Given the description of an element on the screen output the (x, y) to click on. 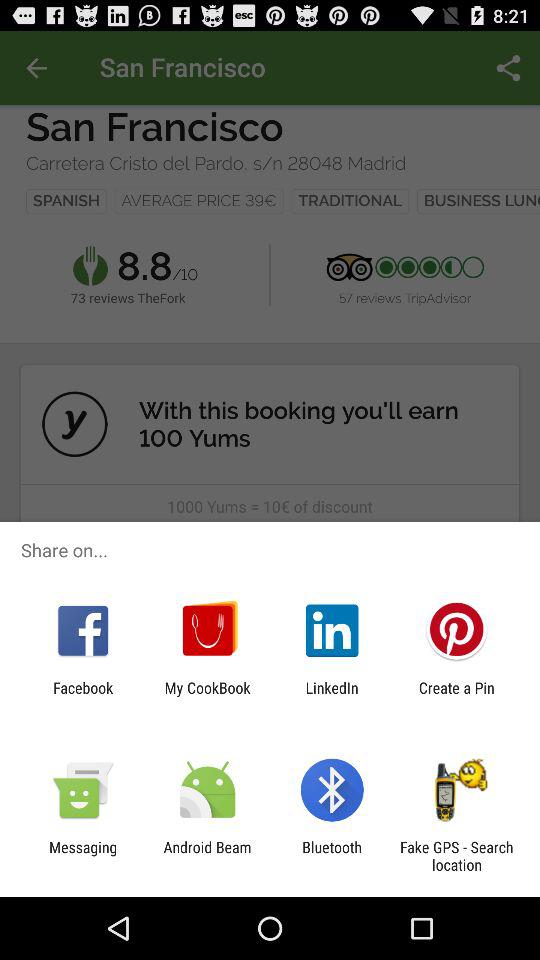
turn off the app to the right of the messaging app (207, 856)
